Given the description of an element on the screen output the (x, y) to click on. 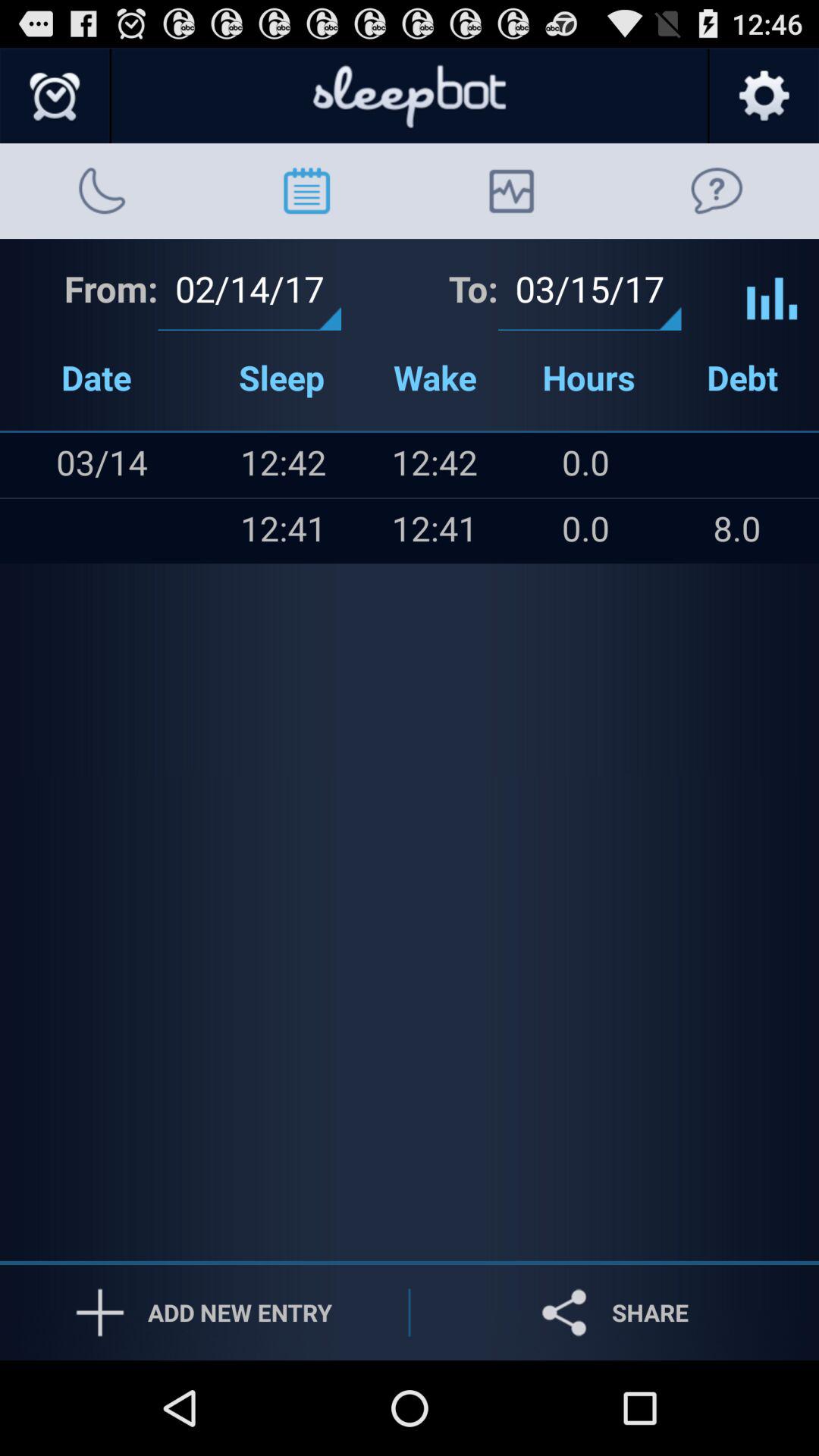
jump to the   icon (31, 531)
